Given the description of an element on the screen output the (x, y) to click on. 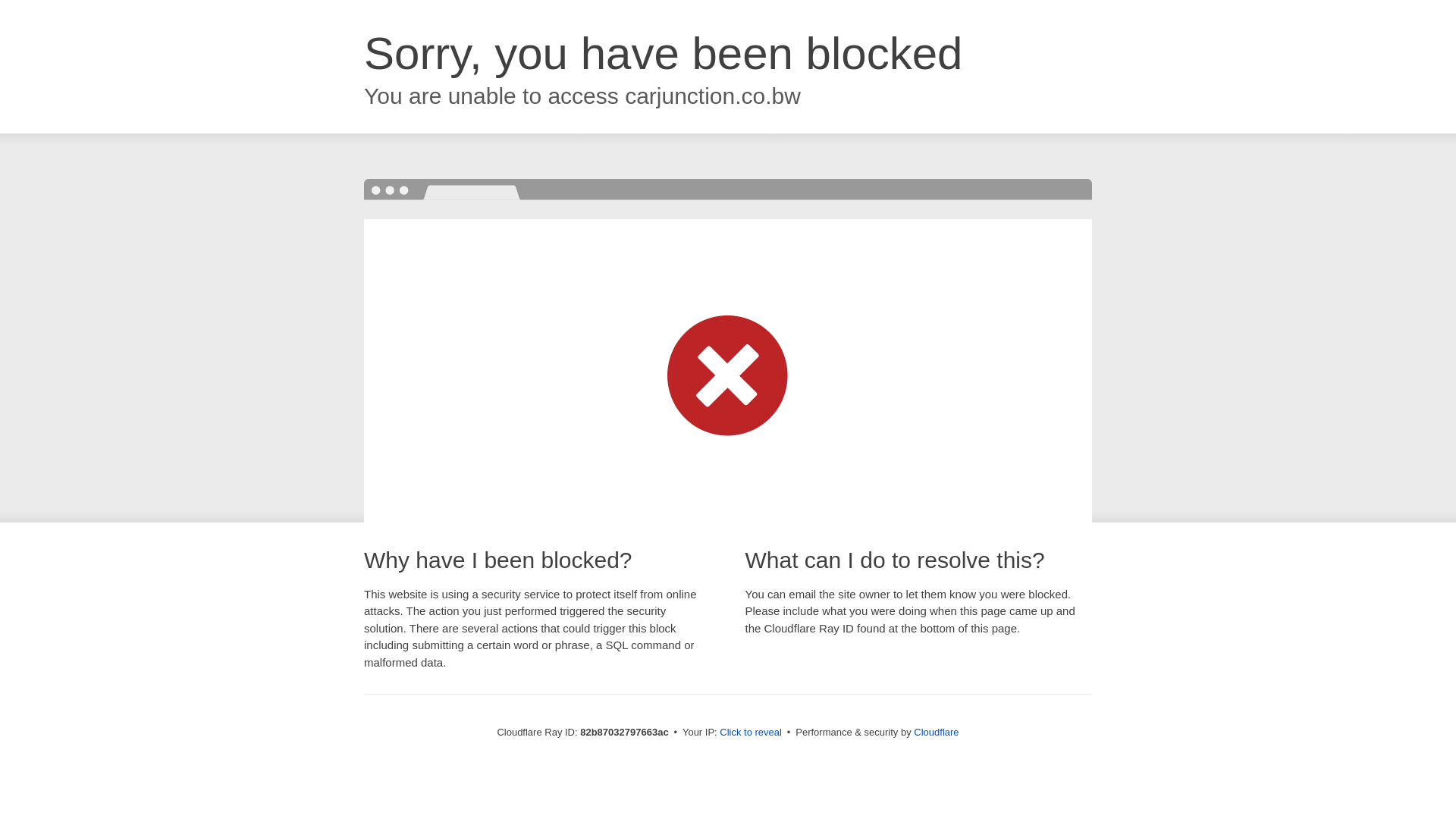
Click to reveal Element type: text (750, 732)
Cloudflare Element type: text (935, 731)
